Given the description of an element on the screen output the (x, y) to click on. 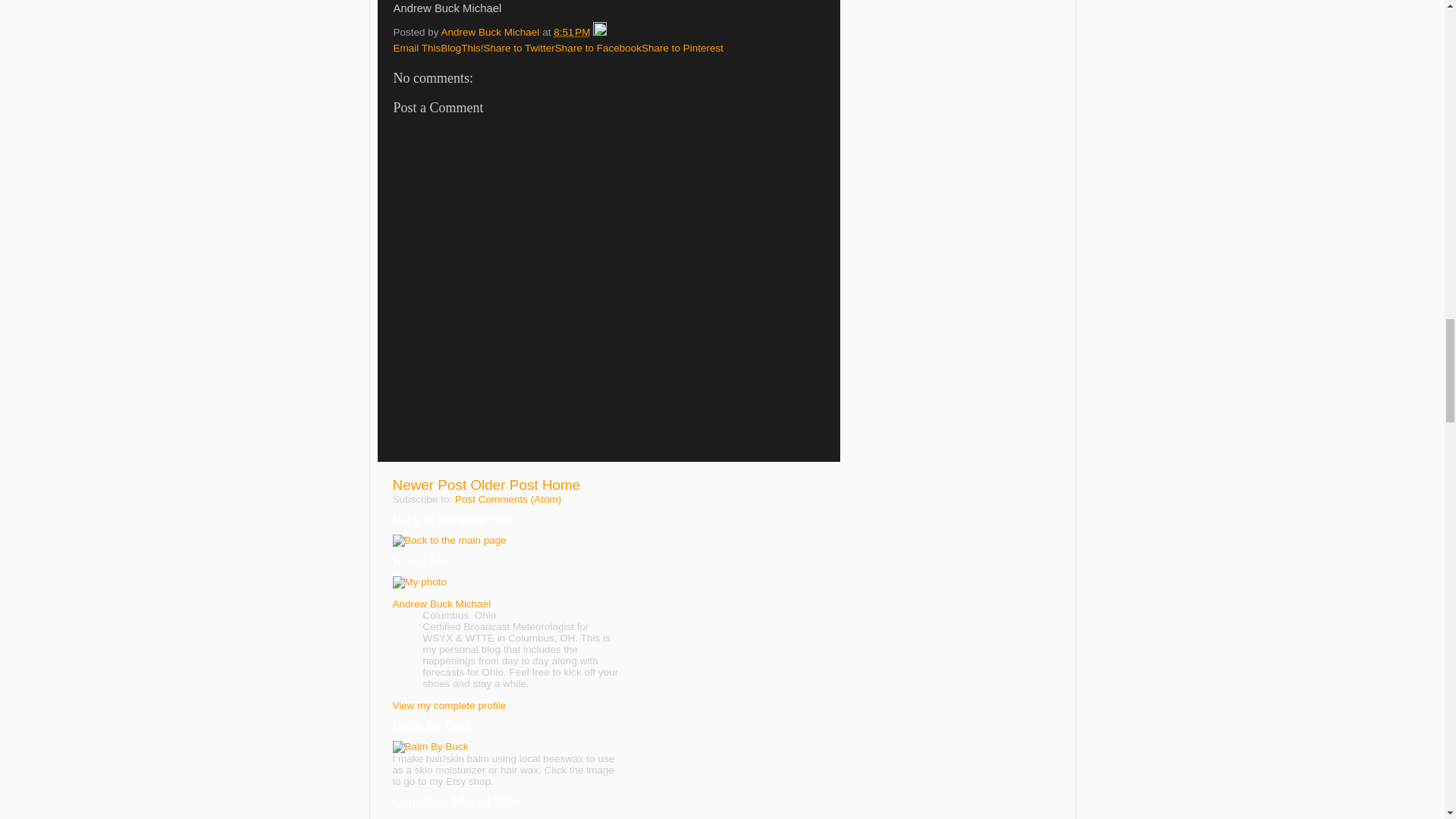
Share to Pinterest (682, 48)
Older Post (503, 484)
Email This (417, 48)
BlogThis! (462, 48)
Older Post (503, 484)
Andrew Buck Michael (442, 603)
Andrew Buck Michael (492, 31)
Share to Facebook (598, 48)
Edit Post (599, 31)
Share to Twitter (518, 48)
Email This (417, 48)
Newer Post (430, 484)
Home (560, 484)
Share to Pinterest (682, 48)
